Given the description of an element on the screen output the (x, y) to click on. 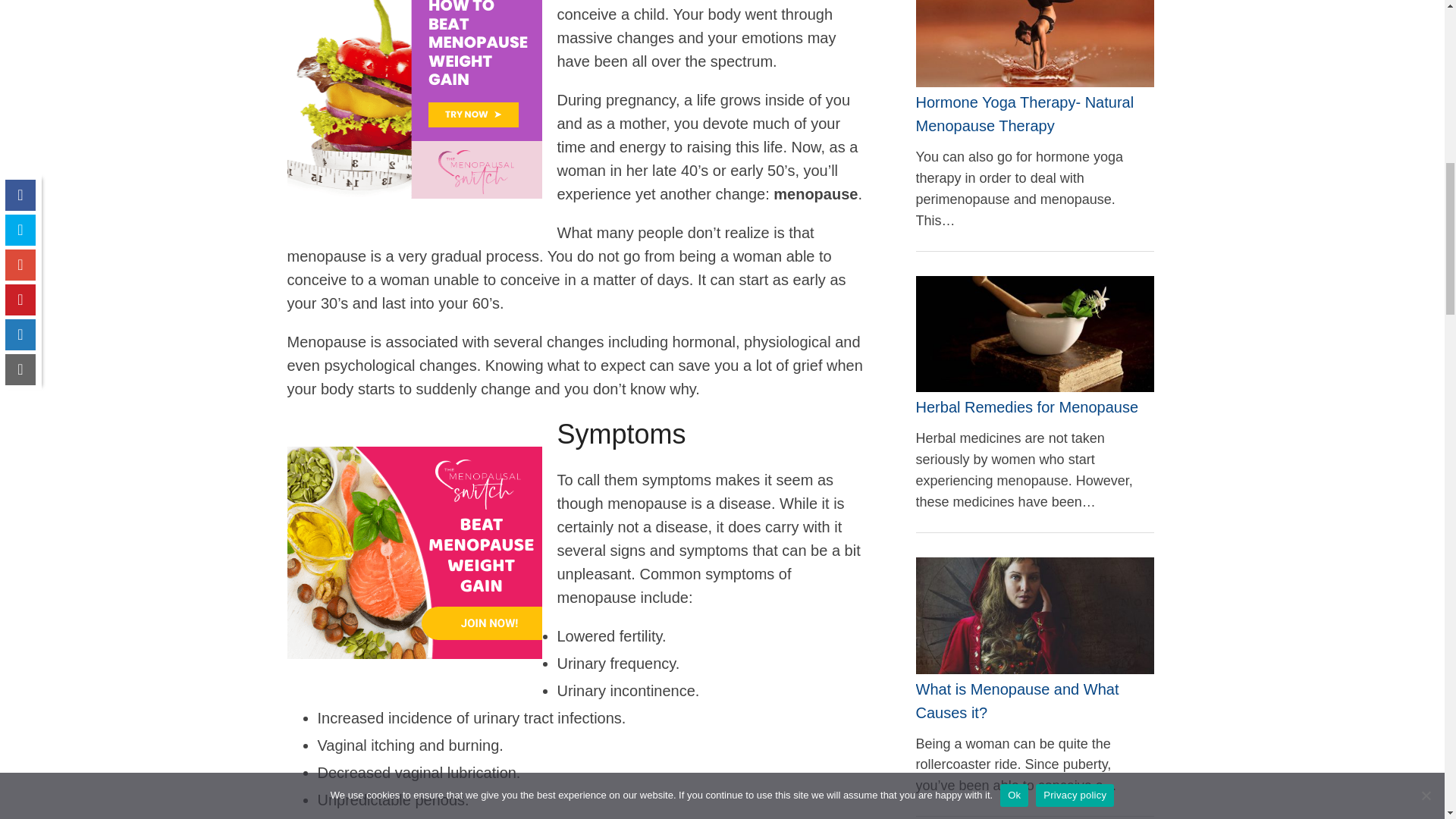
Menopause Weigth Gain No More (413, 99)
Menopause Weigth Gain No More (413, 193)
Beat Menopause Weigth Gain (413, 552)
Beat Menopause Weigth Gain (413, 653)
